Given the description of an element on the screen output the (x, y) to click on. 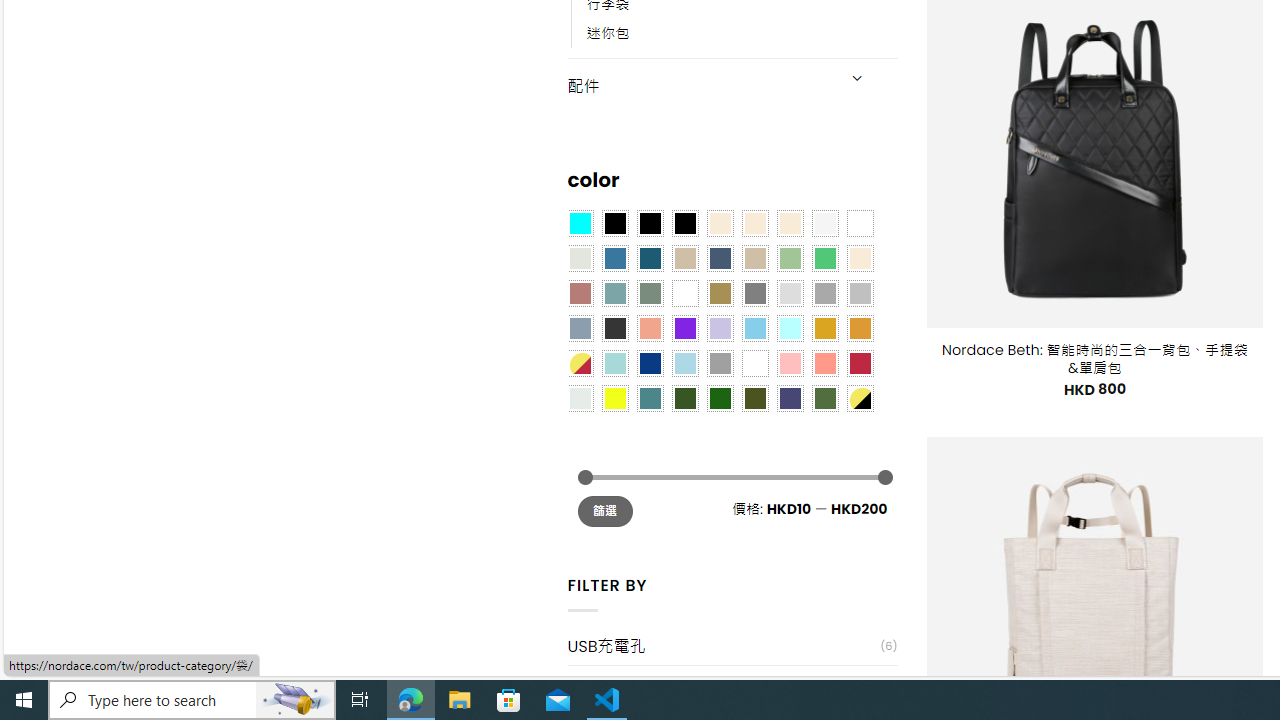
Cream (789, 223)
